Given the description of an element on the screen output the (x, y) to click on. 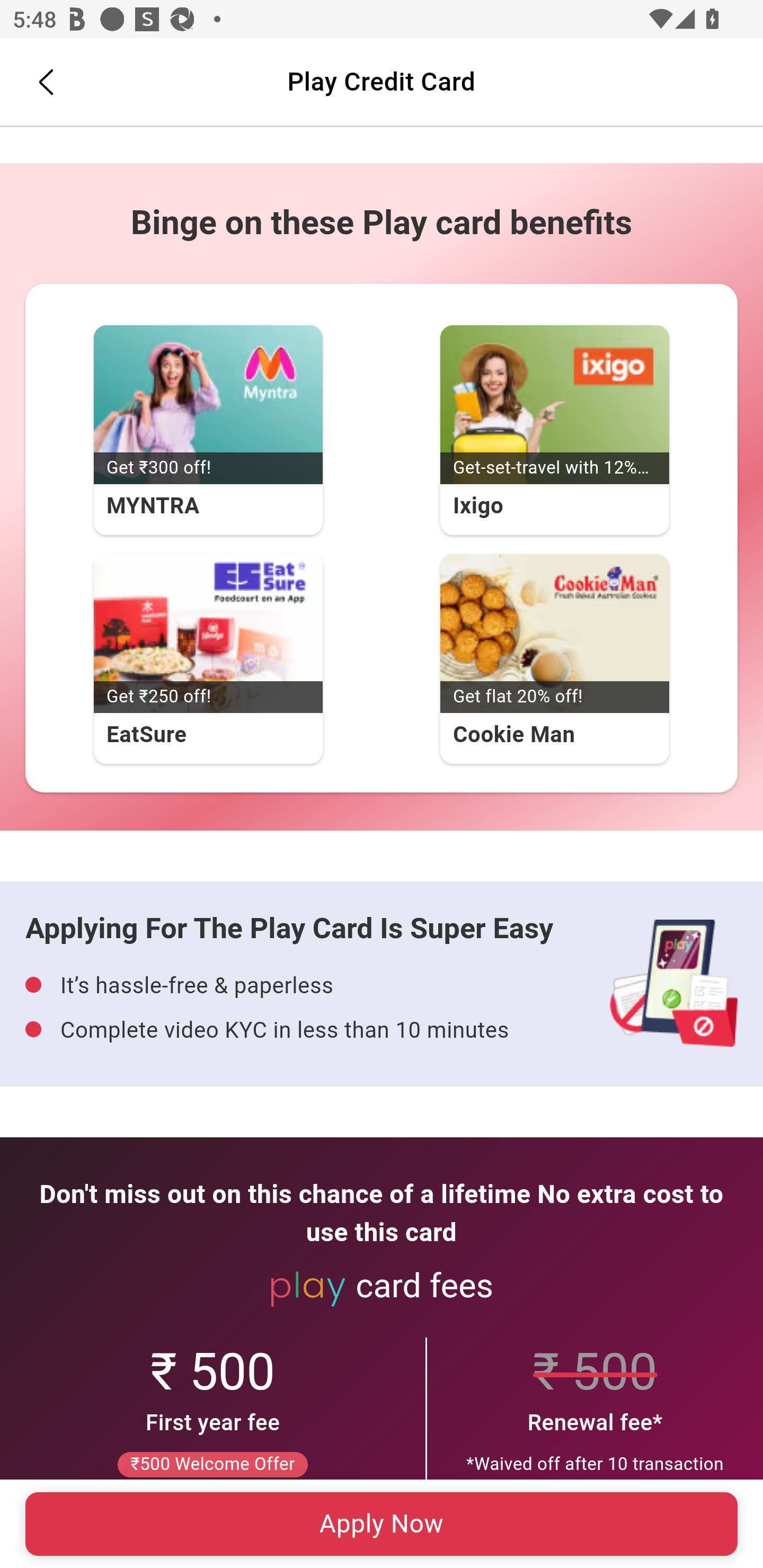
MYNTRA (207, 406)
Ixigo (554, 406)
EatSure (207, 635)
Cookie Man (554, 635)
